Given the description of an element on the screen output the (x, y) to click on. 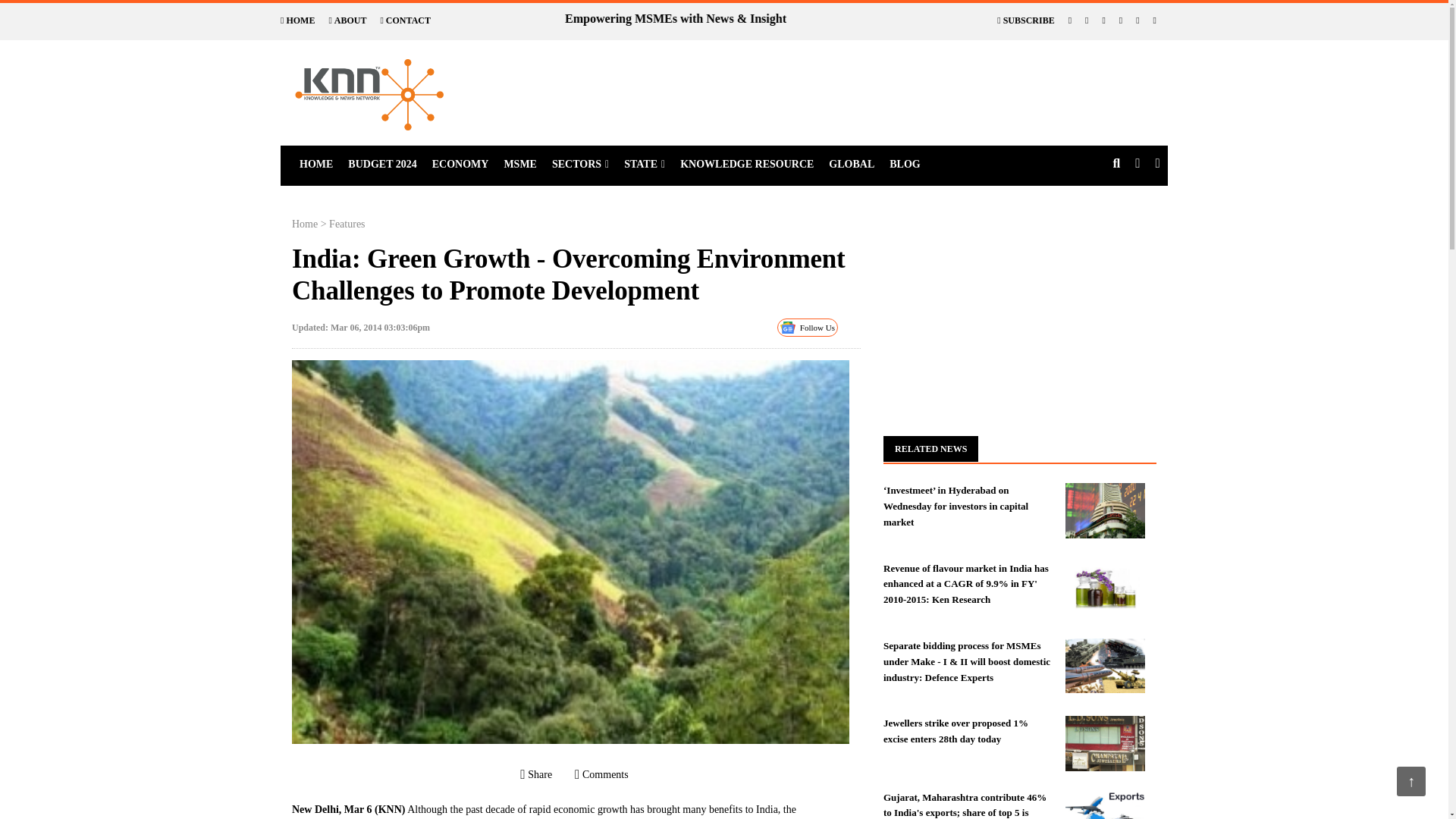
Sectors (579, 165)
SECTORS (579, 165)
 CONTACT (405, 20)
Home (381, 165)
STATE (643, 165)
 HOME (297, 20)
BUDGET 2024 (381, 165)
Economy (460, 165)
Advertisement (864, 74)
 SUBSCRIBE (1025, 20)
MSME (520, 165)
MSME (520, 165)
ECONOMY (460, 165)
HOME (316, 165)
 ABOUT (347, 20)
